Given the description of an element on the screen output the (x, y) to click on. 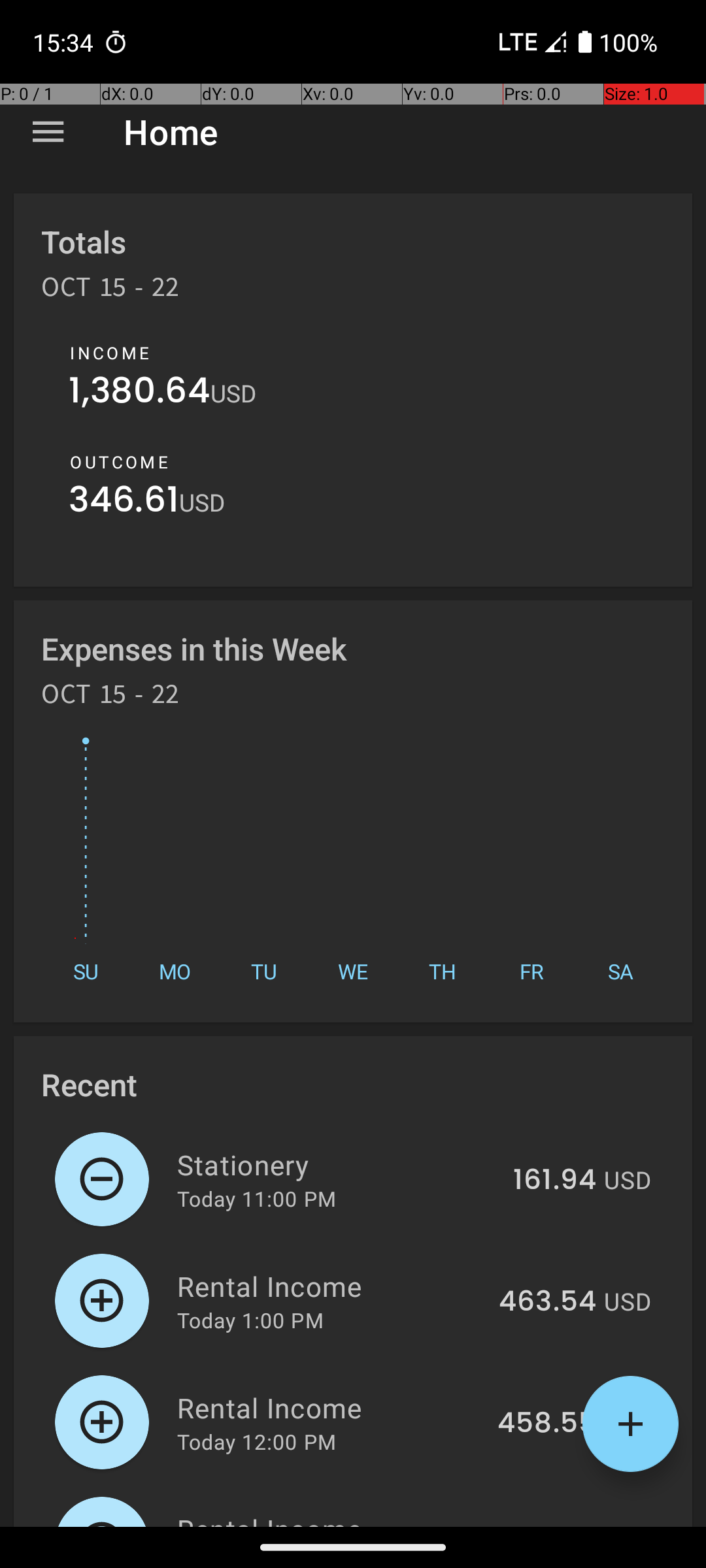
1,380.64 Element type: android.widget.TextView (139, 393)
346.61 Element type: android.widget.TextView (123, 502)
Stationery Element type: android.widget.TextView (337, 1164)
Today 11:00 PM Element type: android.widget.TextView (256, 1198)
161.94 Element type: android.widget.TextView (554, 1180)
Today 1:00 PM Element type: android.widget.TextView (250, 1320)
463.54 Element type: android.widget.TextView (547, 1301)
Today 12:00 PM Element type: android.widget.TextView (256, 1441)
458.55 Element type: android.widget.TextView (546, 1423)
